Given the description of an element on the screen output the (x, y) to click on. 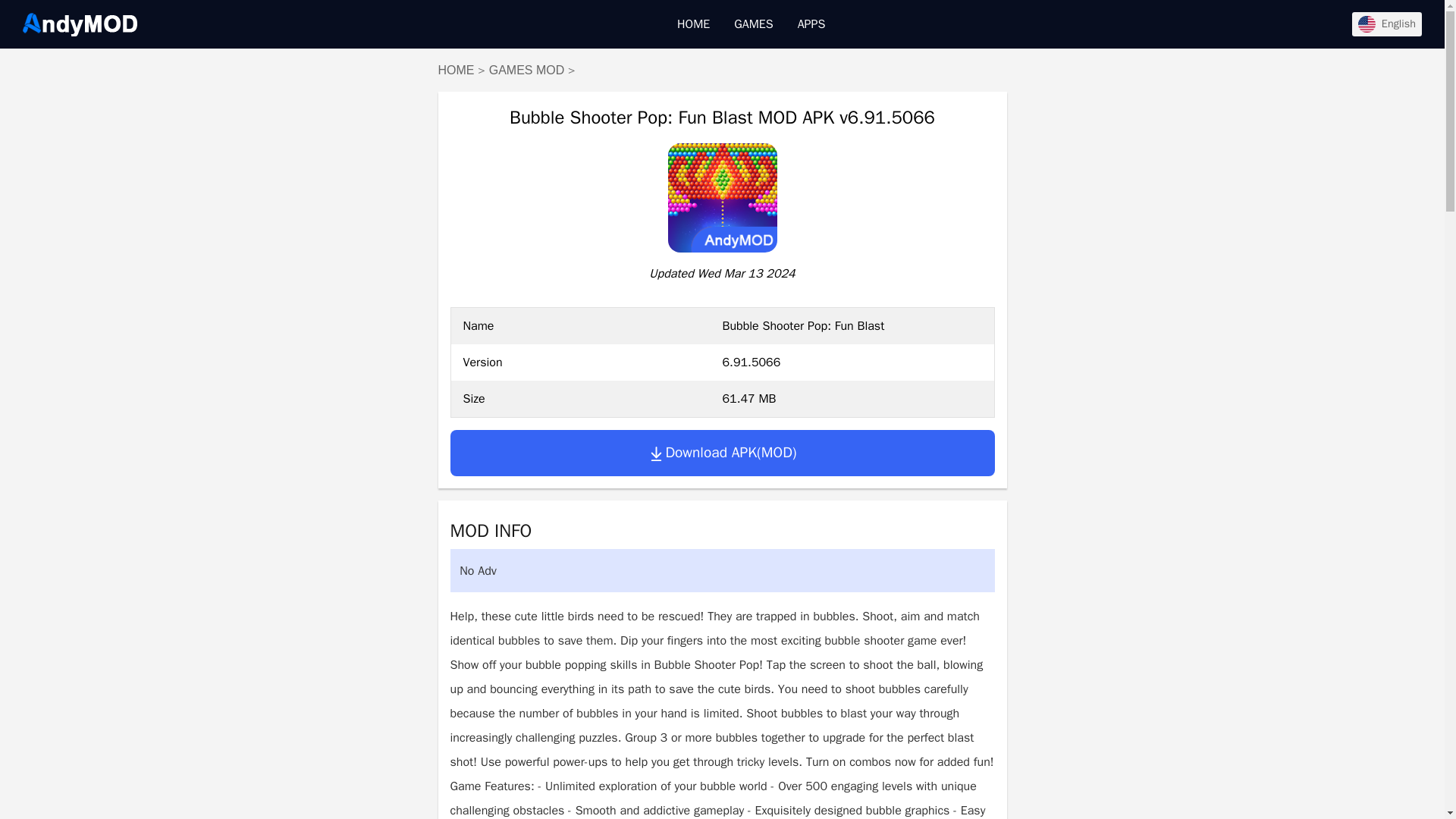
HOME (693, 23)
APPS (812, 23)
HOME (456, 69)
GAMES (753, 23)
GAMES MOD (526, 69)
